Given the description of an element on the screen output the (x, y) to click on. 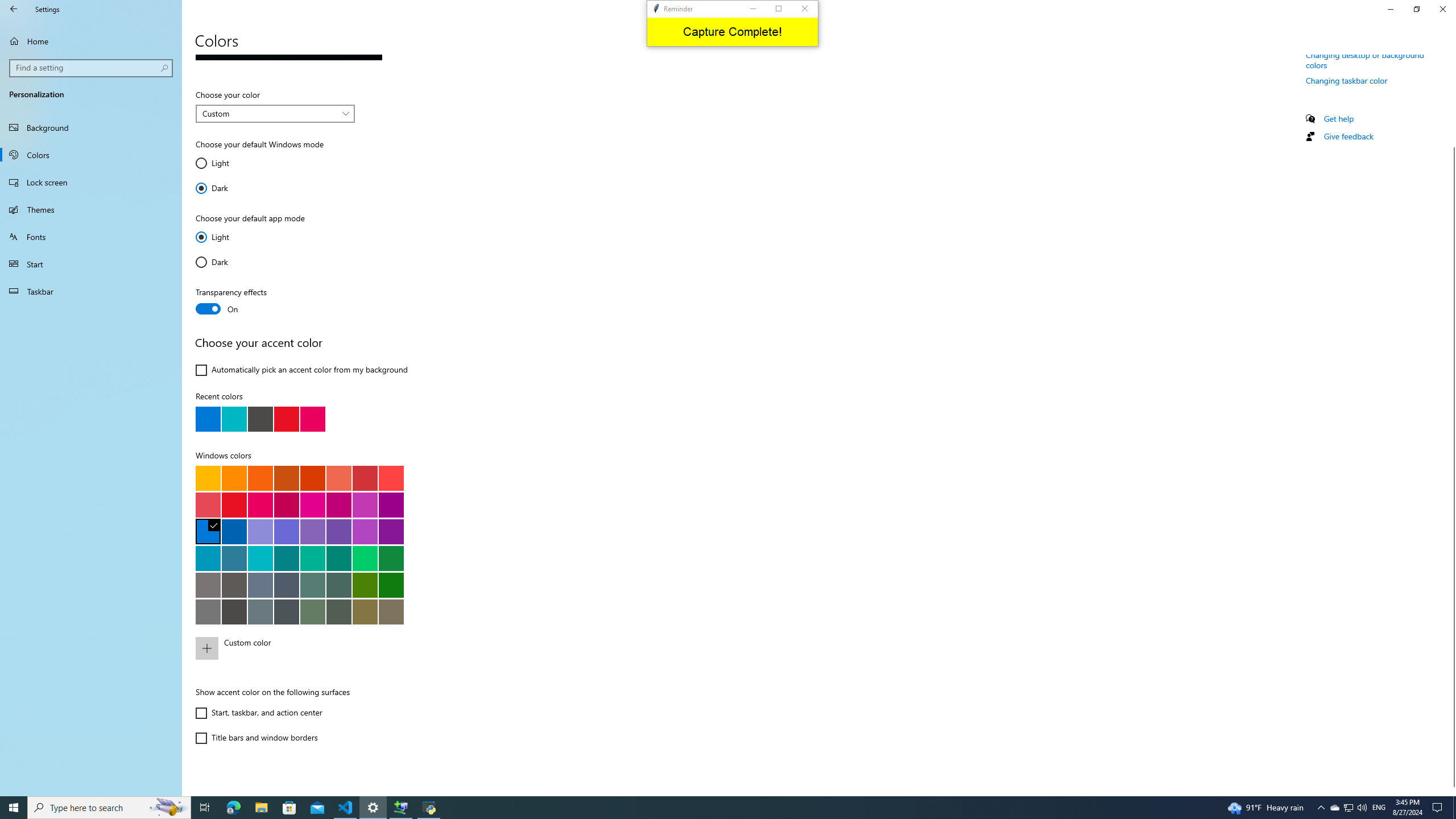
Storm (234, 611)
Blue gray (260, 611)
Transparency effects (237, 301)
Running applications (706, 807)
Plum light (311, 504)
Cool blue bright (208, 557)
Iris Spring (338, 531)
Metal blue (285, 584)
Pale rust (338, 477)
Seafoam teal (285, 557)
Mod red (390, 477)
